Given the description of an element on the screen output the (x, y) to click on. 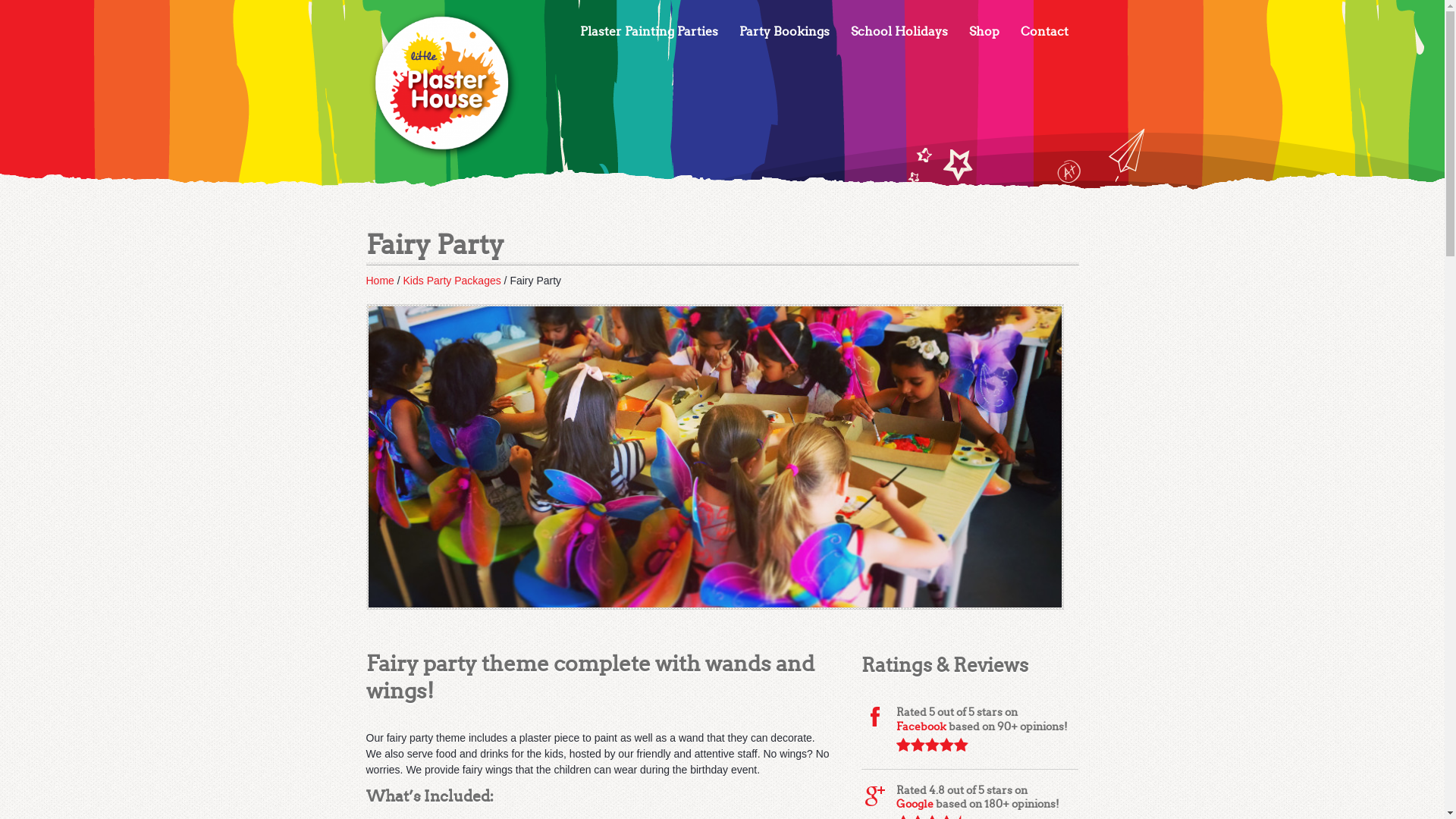
Contact Element type: text (1044, 31)
Shop Element type: text (984, 31)
Home Element type: text (379, 280)
School Holidays Element type: text (899, 31)
Party Bookings Element type: text (783, 31)
Kids Party Packages Element type: text (452, 280)
Facebook Element type: text (921, 726)
Plaster Painting Parties Element type: text (648, 31)
Google Element type: text (914, 803)
